Given the description of an element on the screen output the (x, y) to click on. 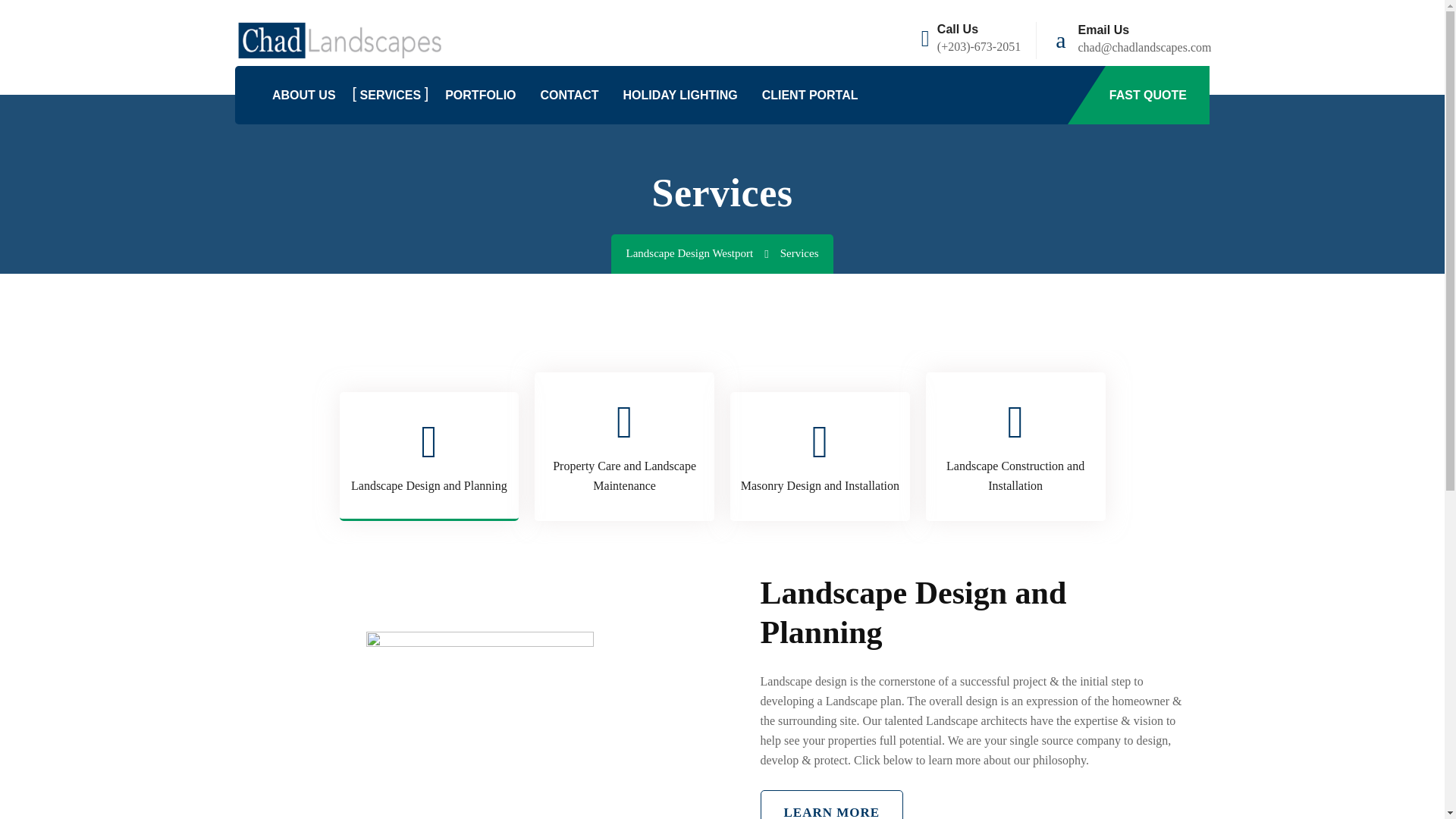
SERVICES (390, 95)
PORTFOLIO (480, 95)
Go to Landscape Design Westport. (703, 253)
CLIENT PORTAL (810, 95)
CONTACT (569, 95)
ABOUT US (304, 95)
HOLIDAY LIGHTING (680, 95)
